Given the description of an element on the screen output the (x, y) to click on. 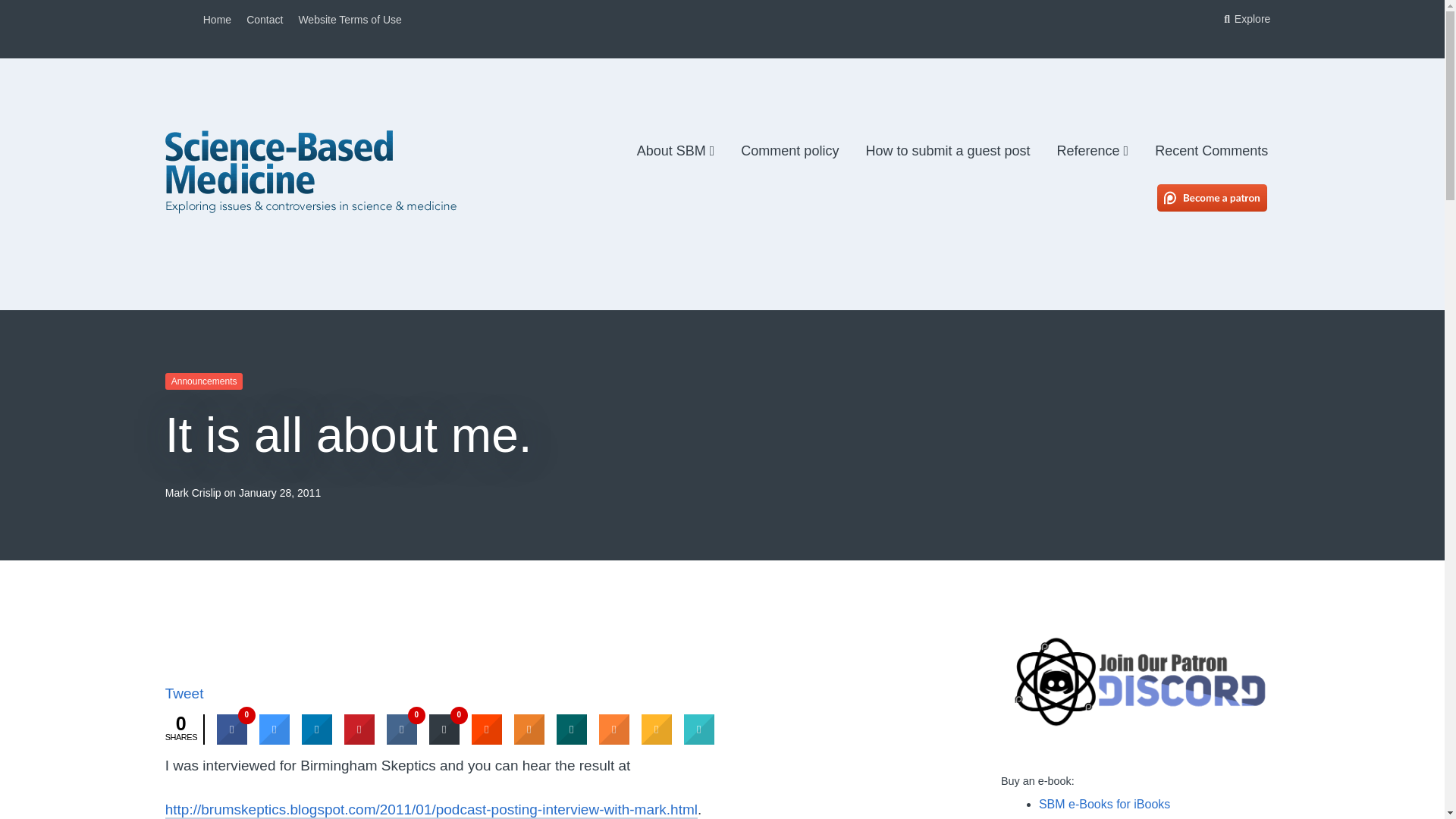
Home (217, 19)
Website Terms of Use (349, 19)
Contact (264, 19)
